Given the description of an element on the screen output the (x, y) to click on. 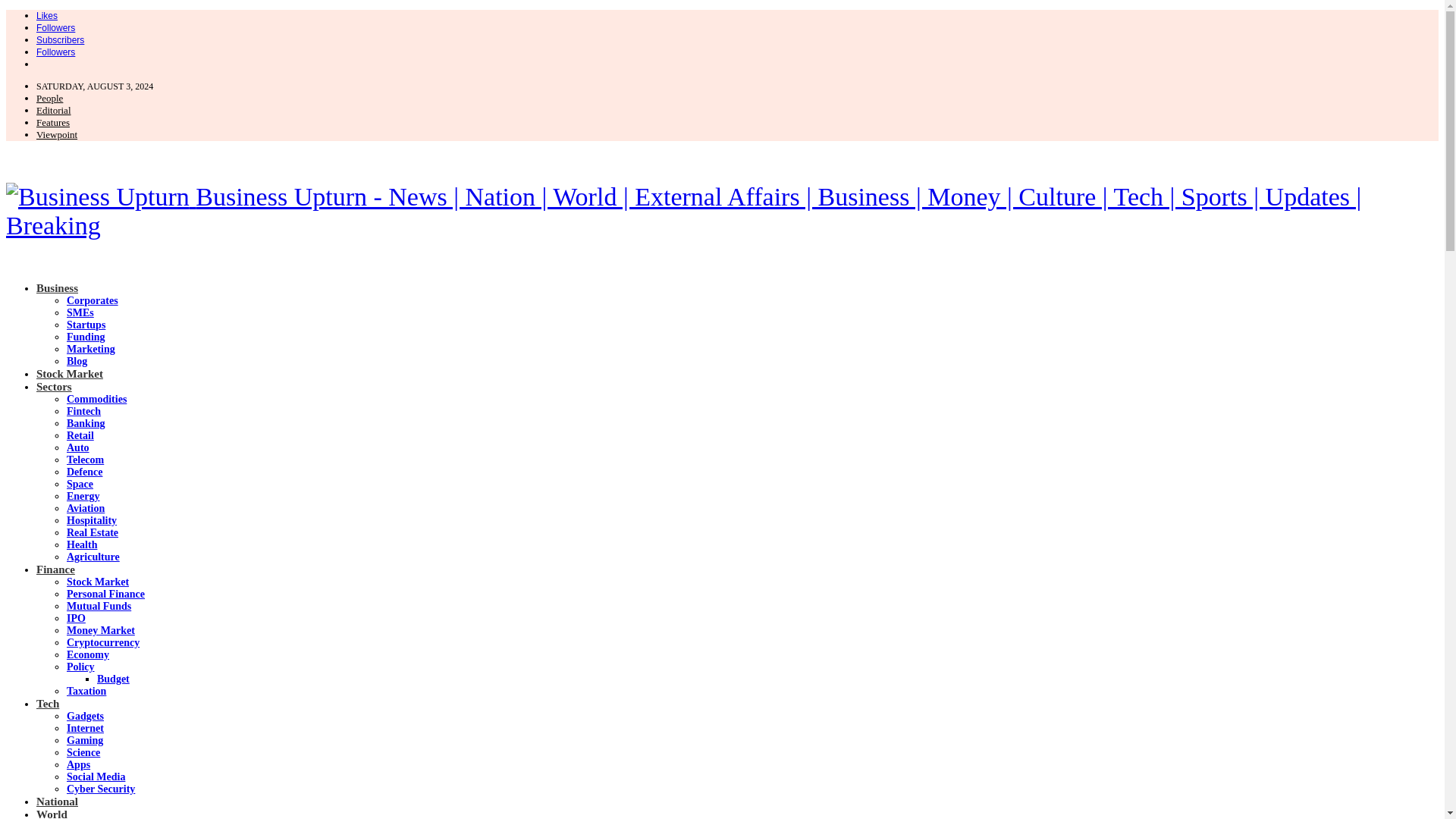
Likes (47, 15)
Personal Finance (105, 593)
Hospitality (91, 520)
Banking (85, 423)
Subscribers (60, 39)
Energy (83, 496)
Aviation (85, 508)
Retail (80, 435)
Blog (76, 360)
Stock Market (97, 582)
Marketing (90, 348)
Funding (85, 337)
Corporates (91, 300)
Editorial (53, 110)
Startups (85, 324)
